Given the description of an element on the screen output the (x, y) to click on. 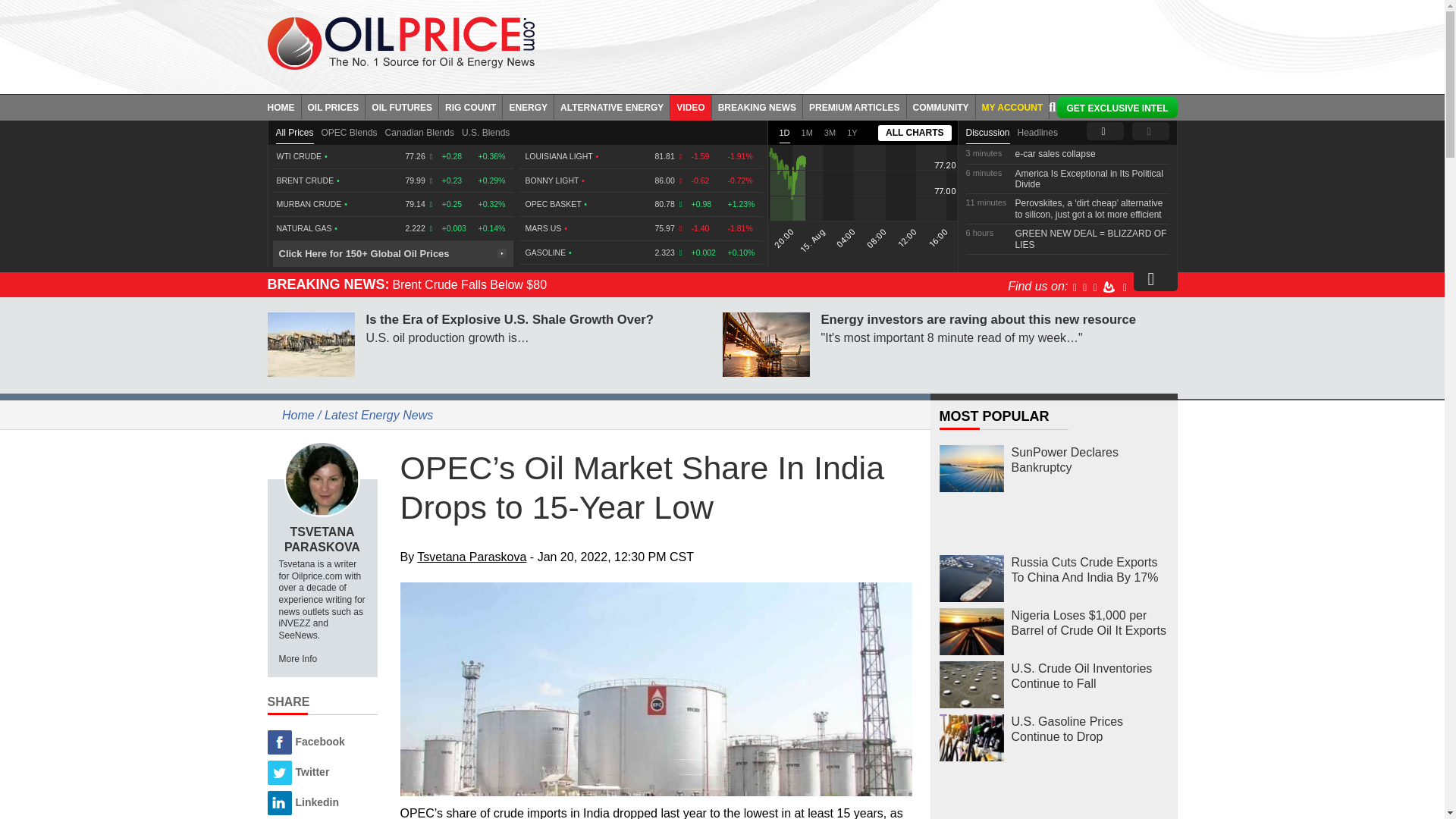
OIL FUTURES (402, 106)
RIG COUNT (470, 106)
MY ACCOUNT (1012, 106)
U.S. Crude Oil Inventories Continue to Fall (971, 684)
SunPower Declares Bankruptcy (971, 469)
U.S. Gasoline Prices Continue to Drop (971, 738)
Tsvetana Paraskova (321, 478)
Oil prices - Oilprice.com (400, 42)
PREMIUM ARTICLES (855, 106)
ALTERNATIVE ENERGY (611, 106)
